Given the description of an element on the screen output the (x, y) to click on. 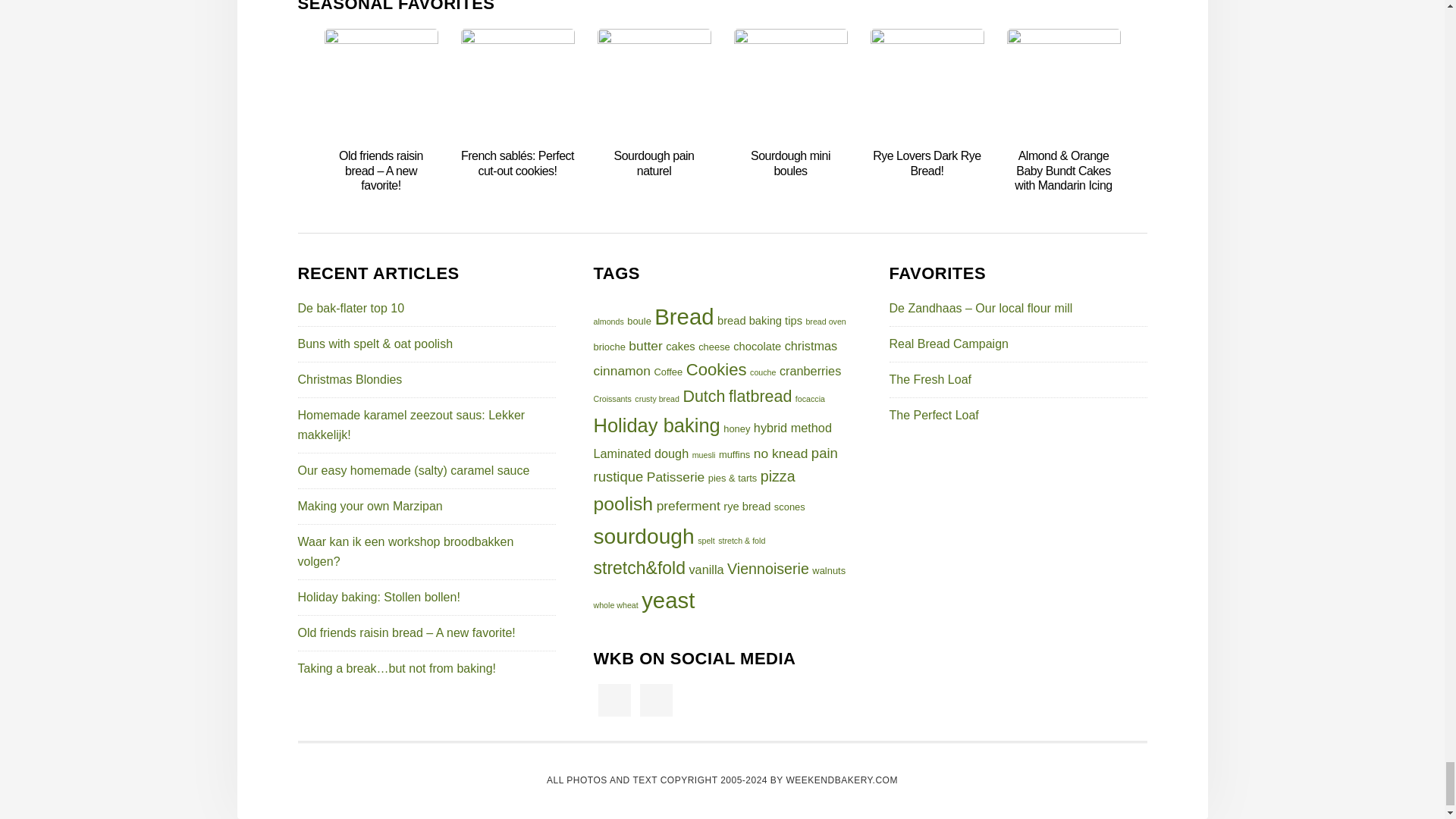
The perfect loaf indeed (933, 414)
